Given the description of an element on the screen output the (x, y) to click on. 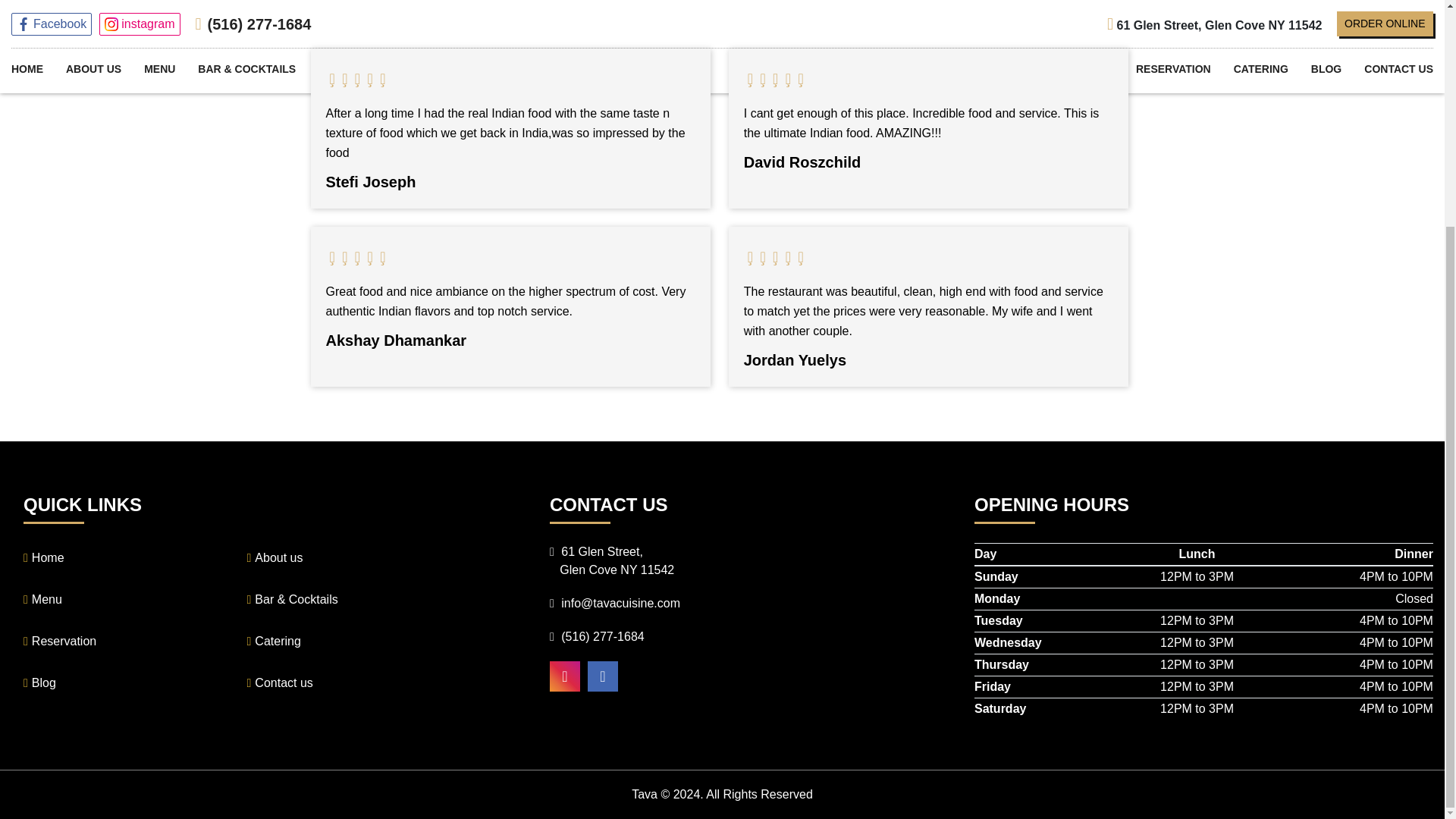
Menu (134, 599)
Reservation (134, 641)
Blog (134, 683)
About us (357, 557)
Home (134, 557)
Contact us (357, 683)
Catering (357, 641)
